Given the description of an element on the screen output the (x, y) to click on. 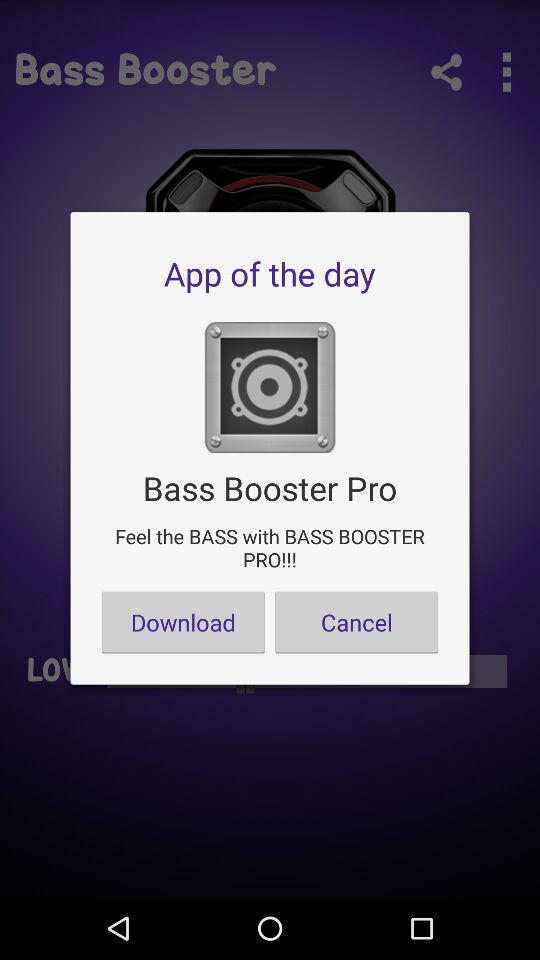
choose the item next to cancel (183, 622)
